Given the description of an element on the screen output the (x, y) to click on. 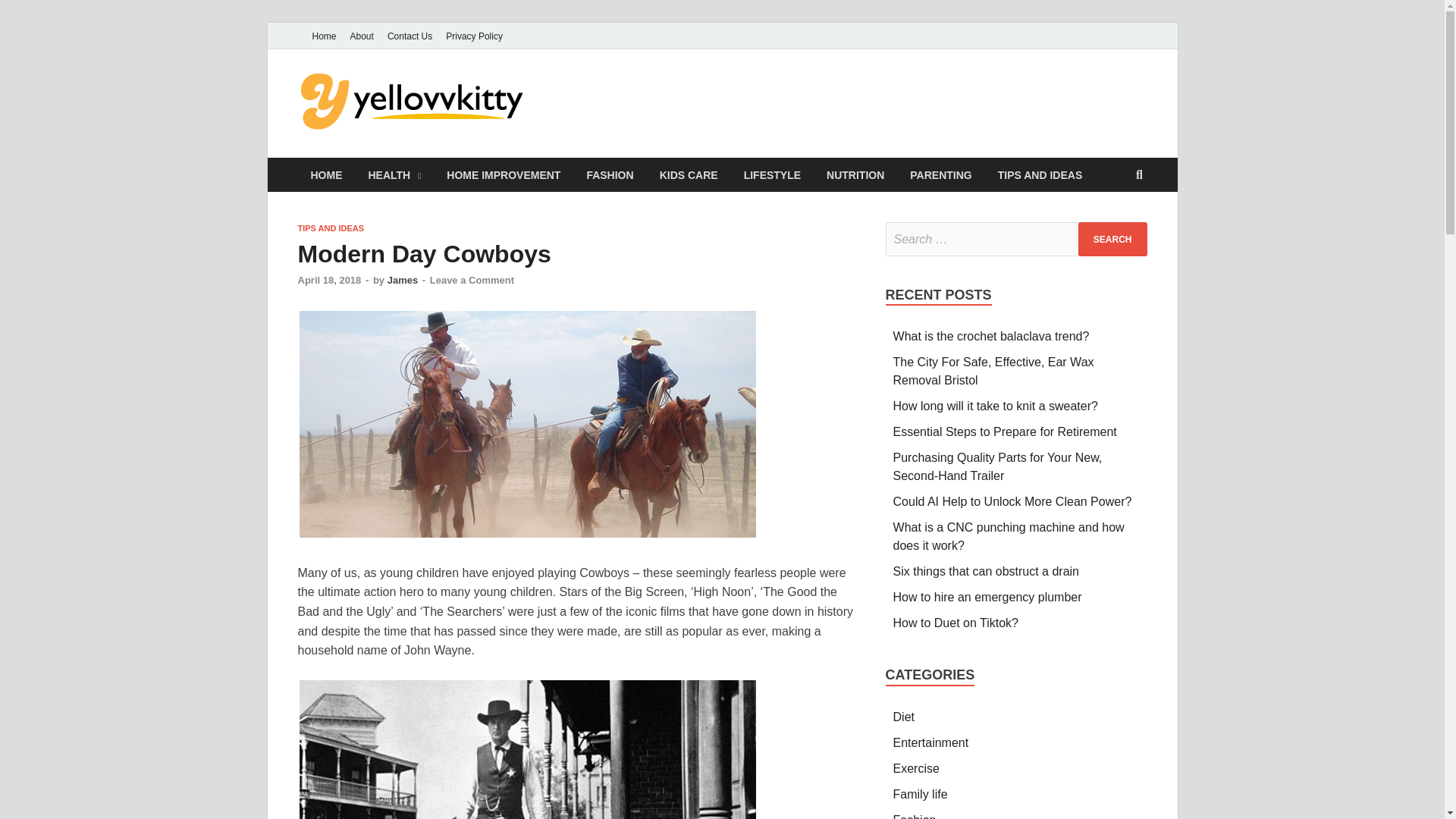
PARENTING (940, 174)
FASHION (609, 174)
Search (1112, 238)
HEALTH (394, 174)
HOME IMPROVEMENT (503, 174)
NUTRITION (854, 174)
KIDS CARE (688, 174)
HOME (326, 174)
TIPS AND IDEAS (330, 227)
LIFESTYLE (771, 174)
Home (323, 35)
Search (1112, 238)
YelloVV Kitty (620, 100)
Contact Us (409, 35)
About (361, 35)
